Given the description of an element on the screen output the (x, y) to click on. 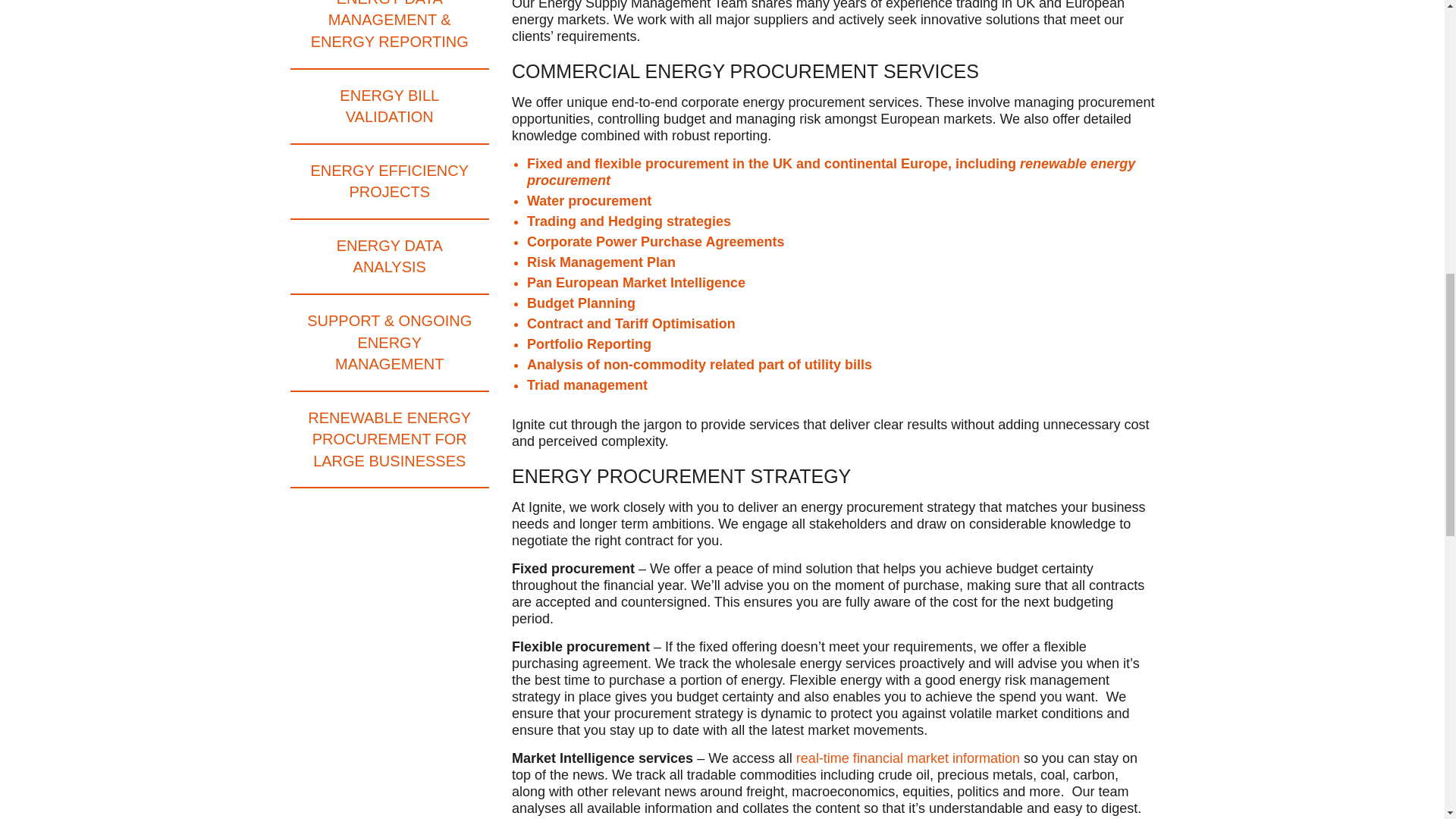
ENERGY BILL VALIDATION (389, 106)
ENERGY EFFICIENCY PROJECTS (389, 182)
ENERGY DATA ANALYSIS (389, 257)
